Given the description of an element on the screen output the (x, y) to click on. 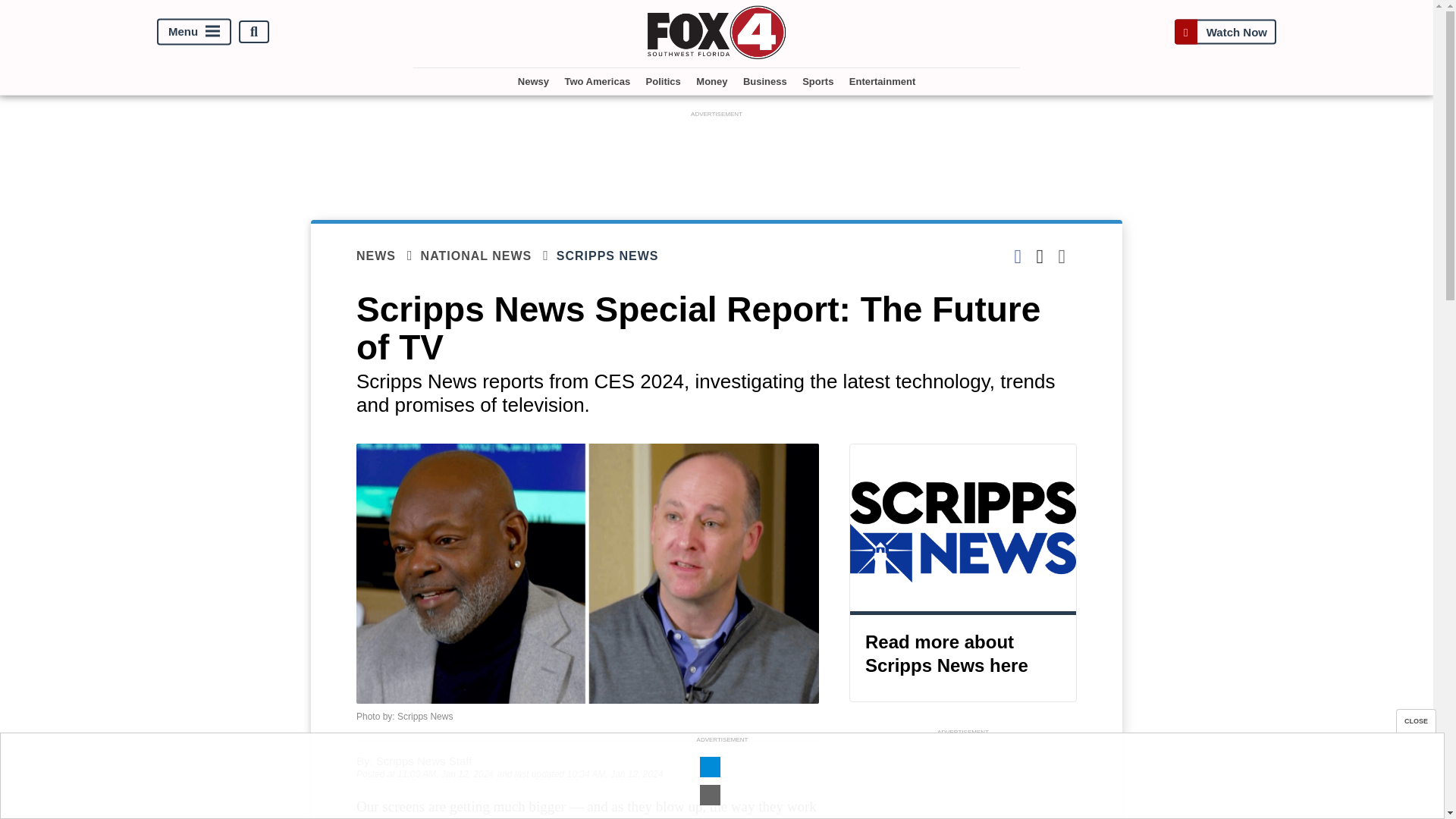
3rd party ad content (716, 155)
Menu (194, 31)
3rd party ad content (962, 779)
Watch Now (1224, 31)
3rd party ad content (721, 780)
